Given the description of an element on the screen output the (x, y) to click on. 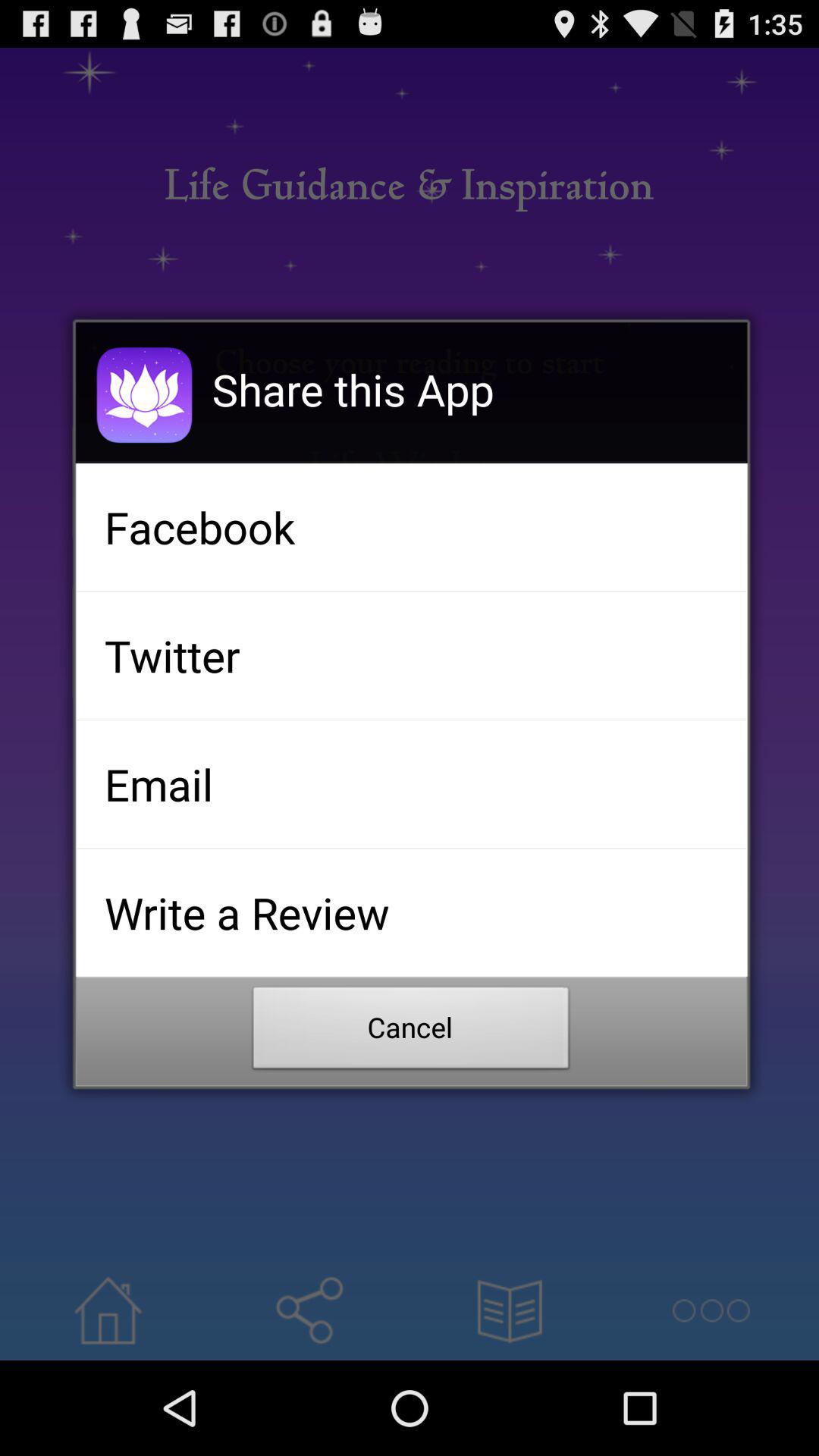
open button at the bottom (410, 1032)
